Given the description of an element on the screen output the (x, y) to click on. 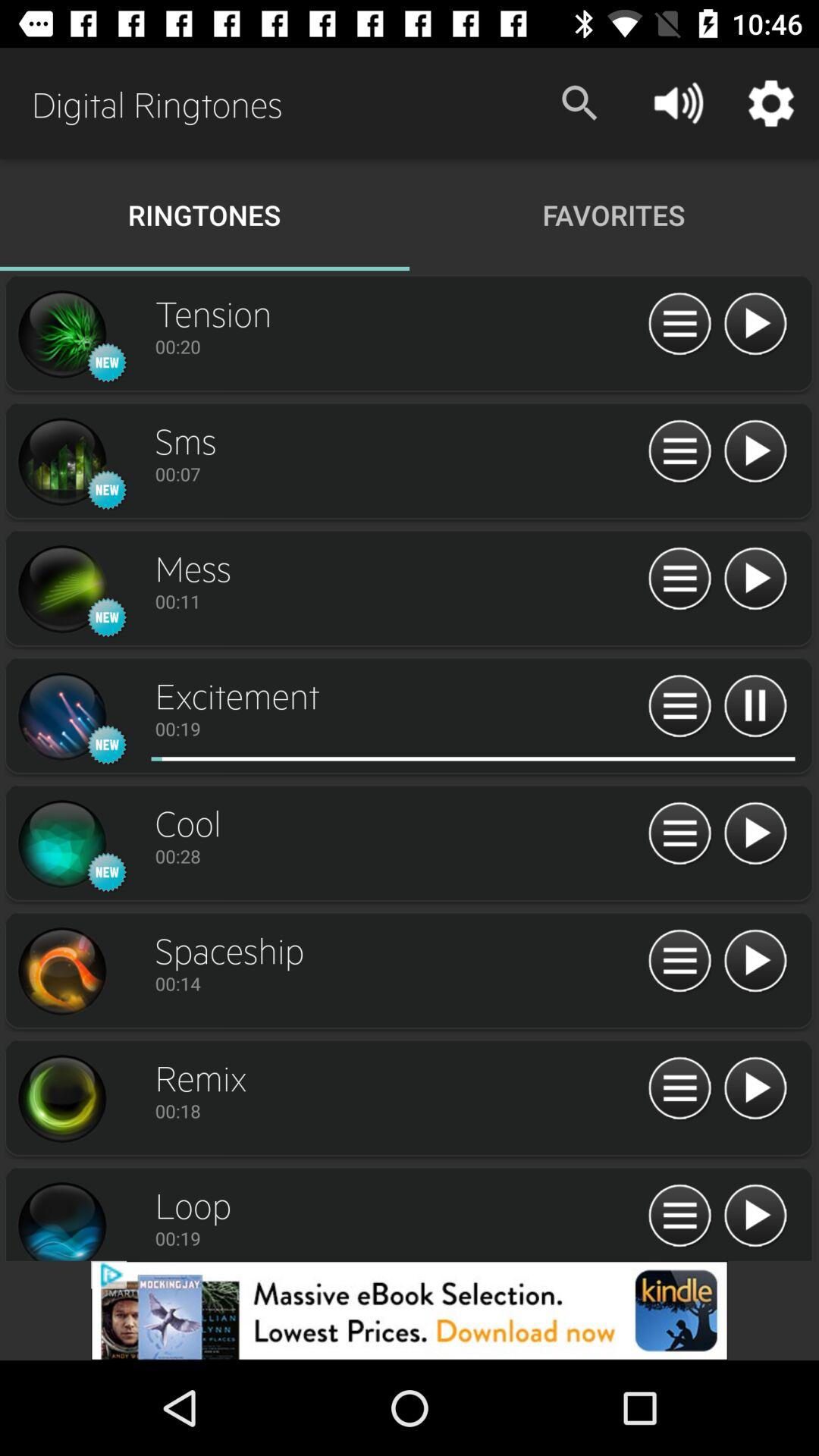
see more (679, 324)
